Given the description of an element on the screen output the (x, y) to click on. 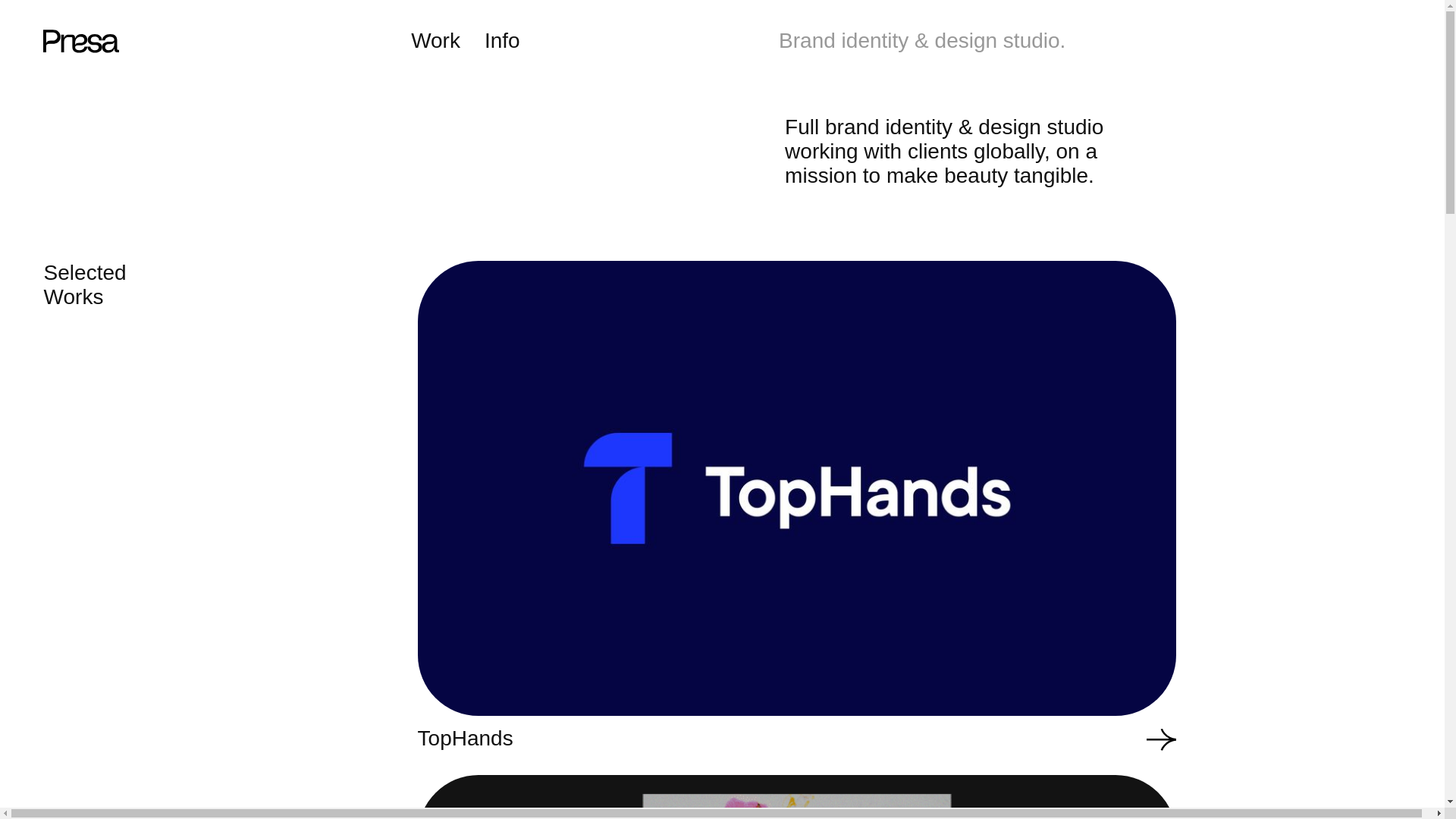
Info (501, 40)
Work (435, 40)
Good Cup Coffee Co (796, 796)
